Given the description of an element on the screen output the (x, y) to click on. 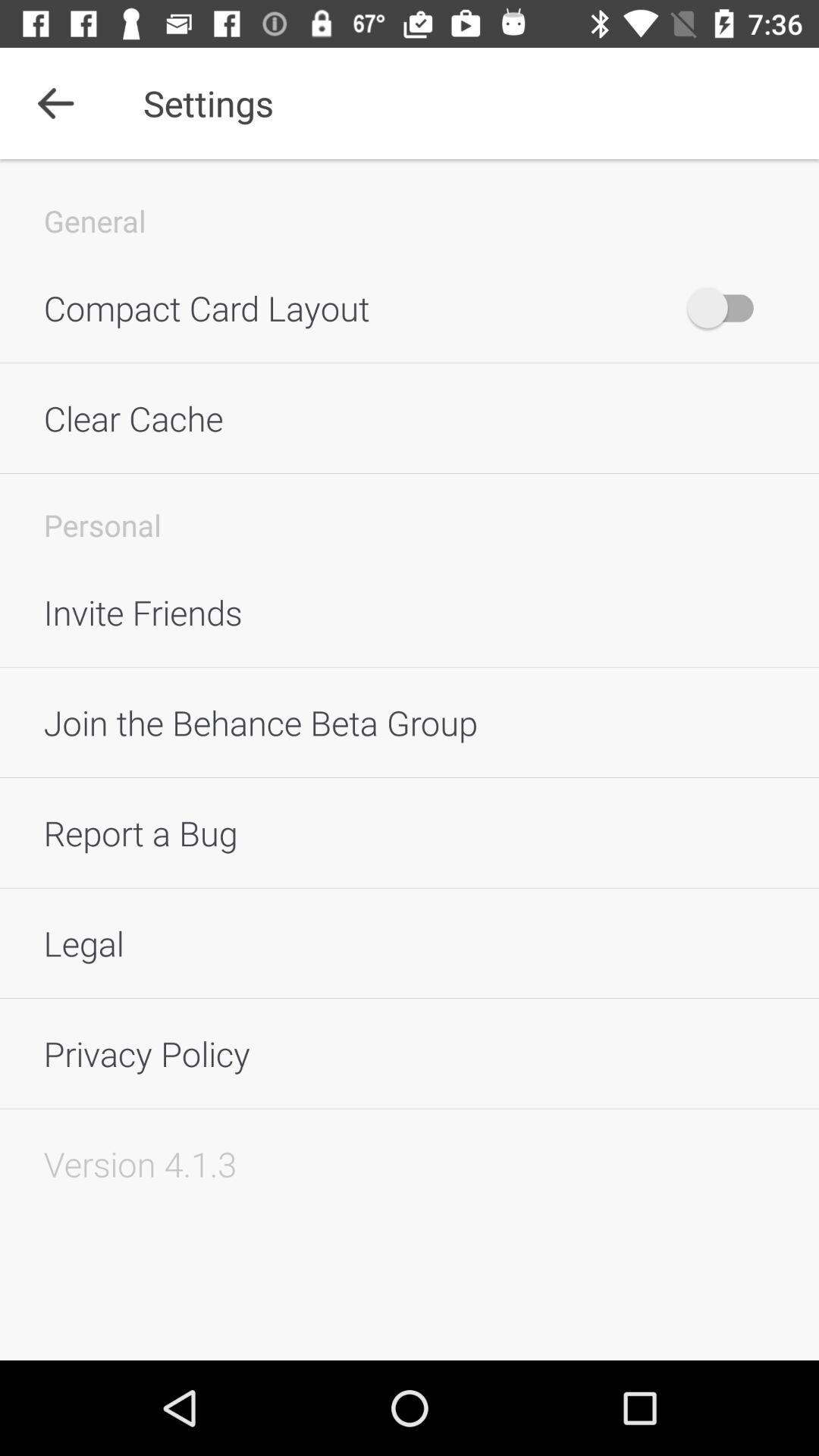
turn off the item next to the compact card layout (727, 307)
